Given the description of an element on the screen output the (x, y) to click on. 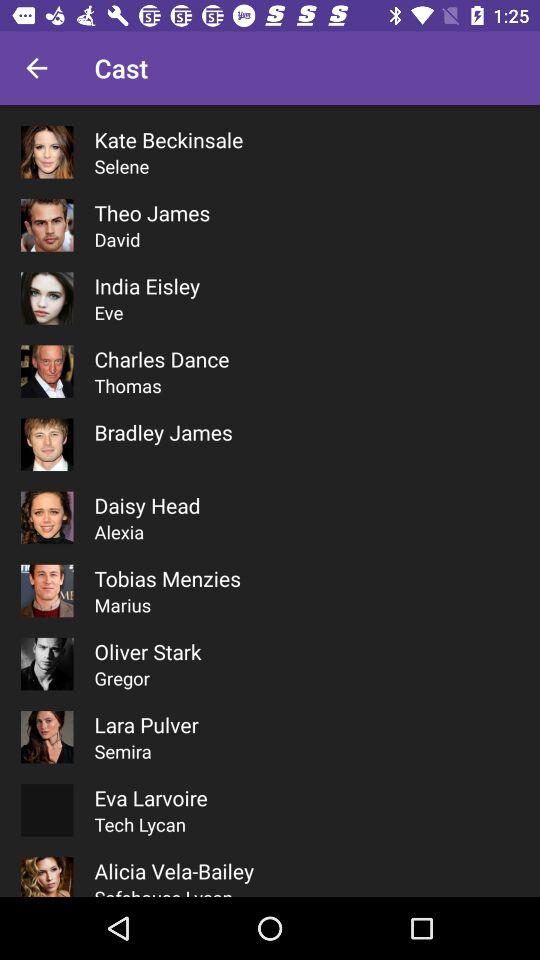
click the icon above tobias menzies item (119, 531)
